Given the description of an element on the screen output the (x, y) to click on. 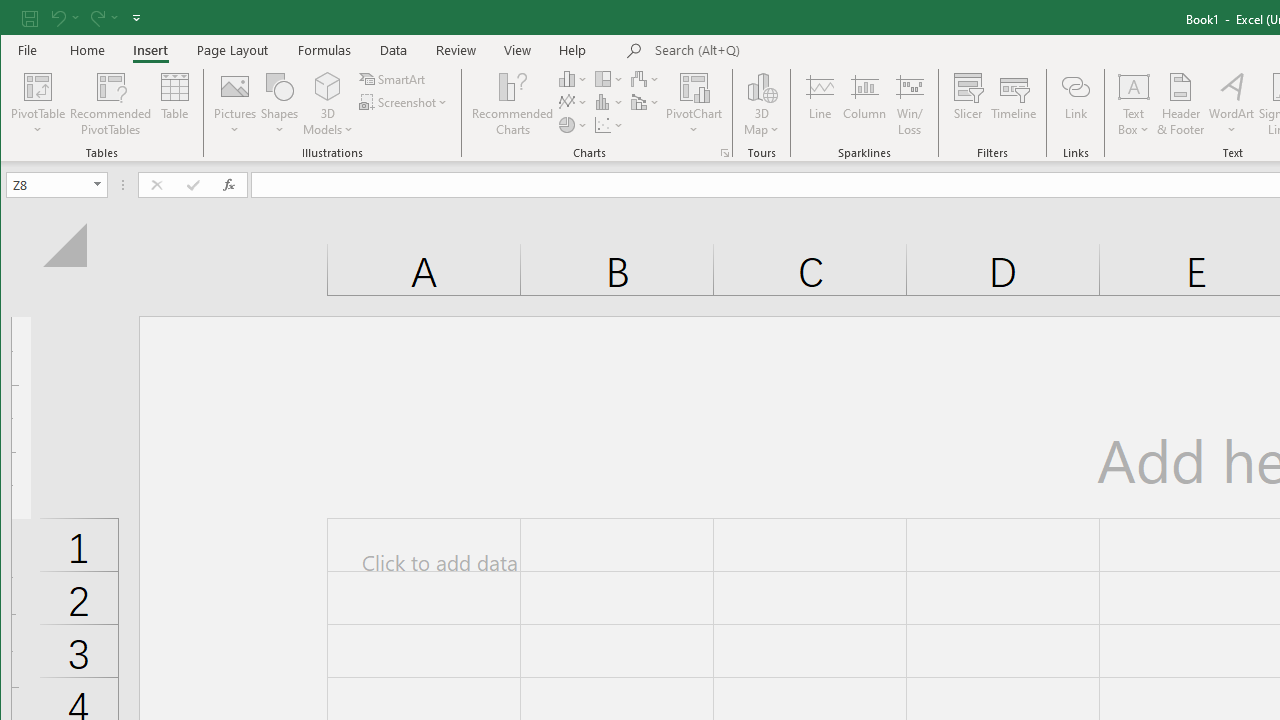
3D Models (327, 104)
PivotTable (37, 104)
Text Box (1133, 104)
Insert Column or Bar Chart (573, 78)
3D Map (762, 104)
Insert Waterfall, Funnel, Stock, Surface, or Radar Chart (646, 78)
PivotChart (694, 104)
Screenshot (404, 101)
SmartArt... (393, 78)
Line (819, 104)
